Given the description of an element on the screen output the (x, y) to click on. 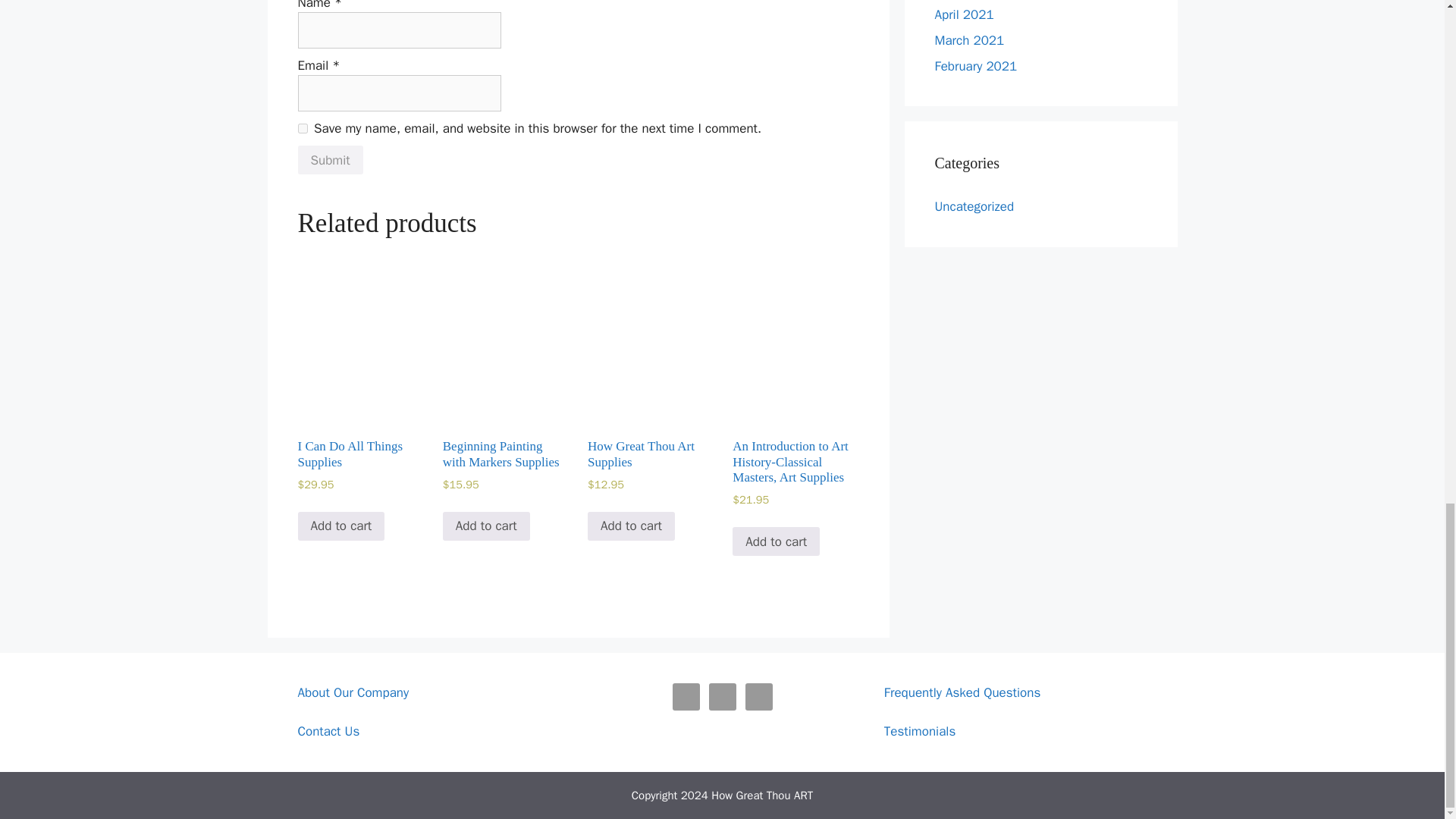
Submit (329, 159)
Submit (329, 159)
Add to cart (340, 525)
Add to cart (485, 525)
Add to cart (775, 541)
Add to cart (631, 525)
yes (302, 128)
